Given the description of an element on the screen output the (x, y) to click on. 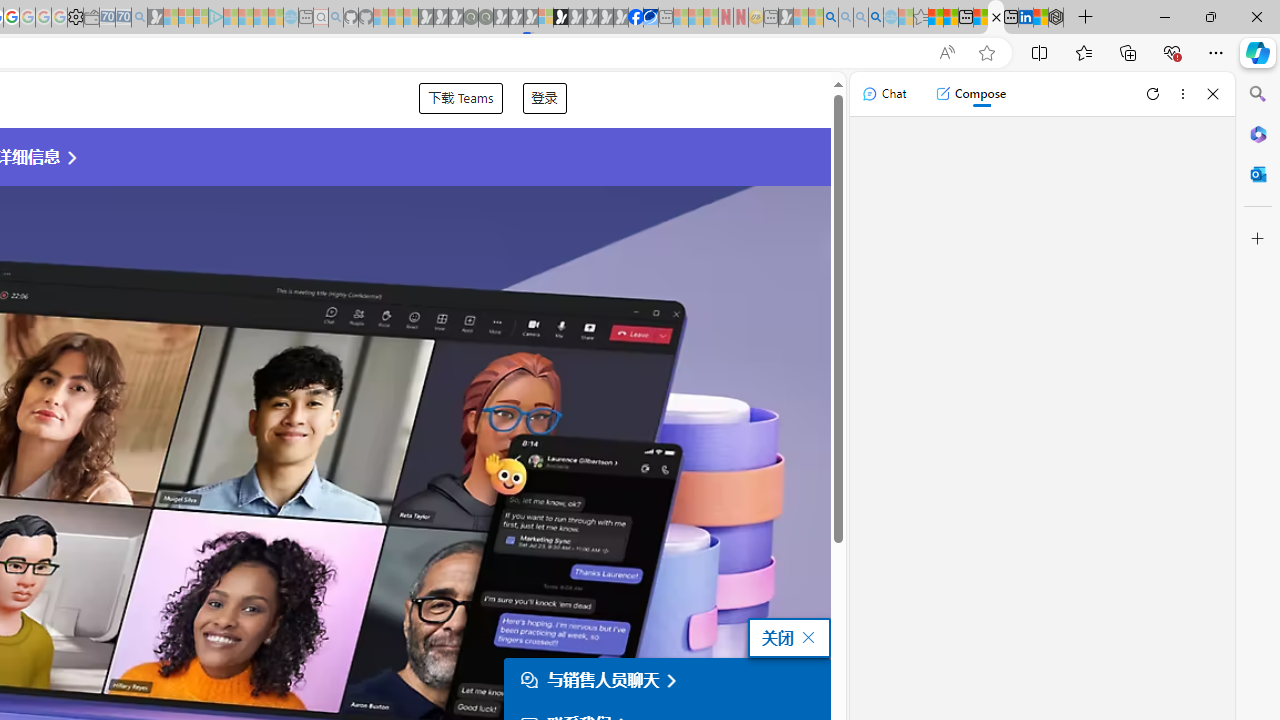
Aberdeen, Hong Kong SAR weather forecast | Microsoft Weather (950, 17)
